Given the description of an element on the screen output the (x, y) to click on. 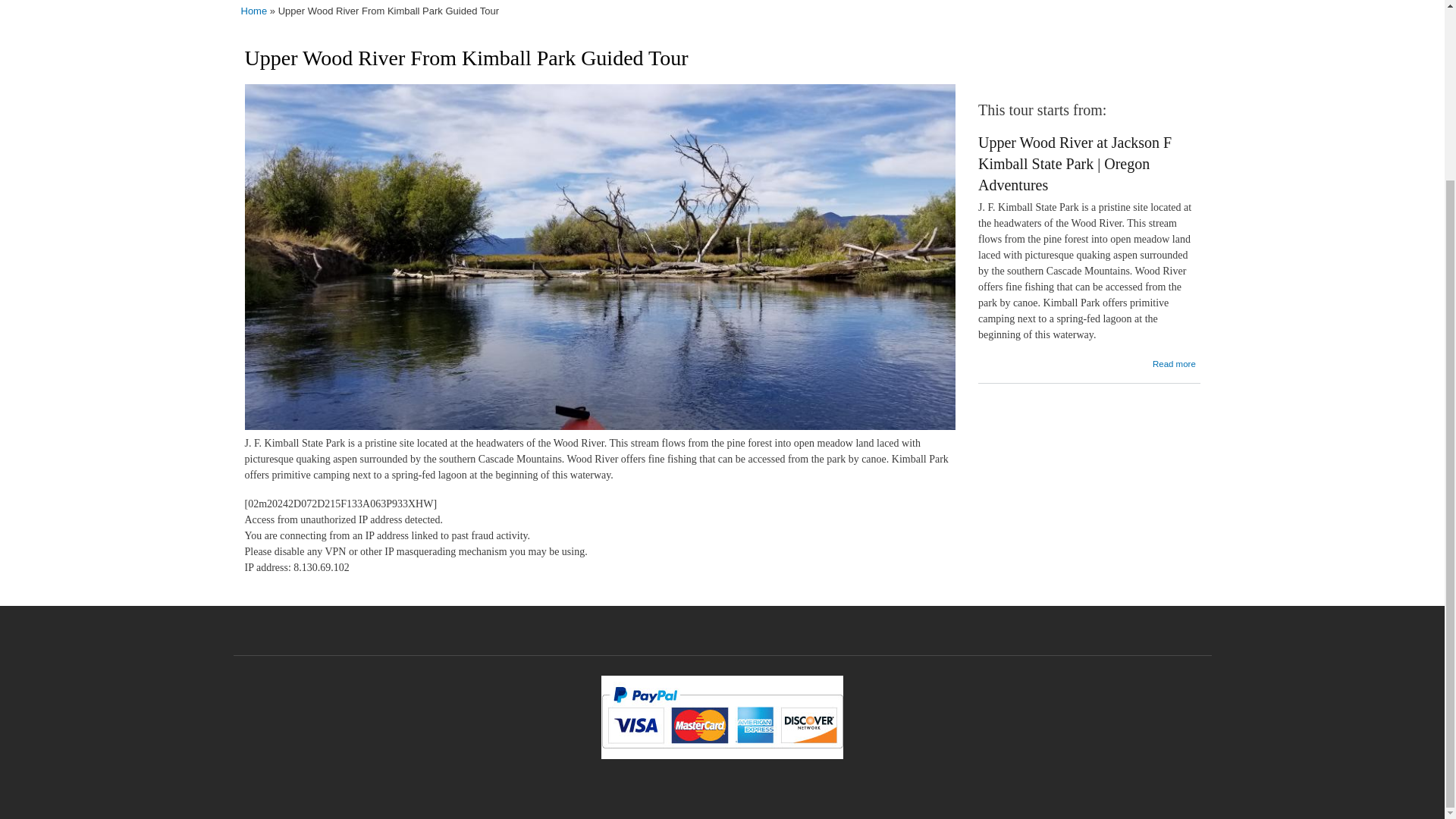
Home (254, 12)
How PayPal Works (722, 756)
